Given the description of an element on the screen output the (x, y) to click on. 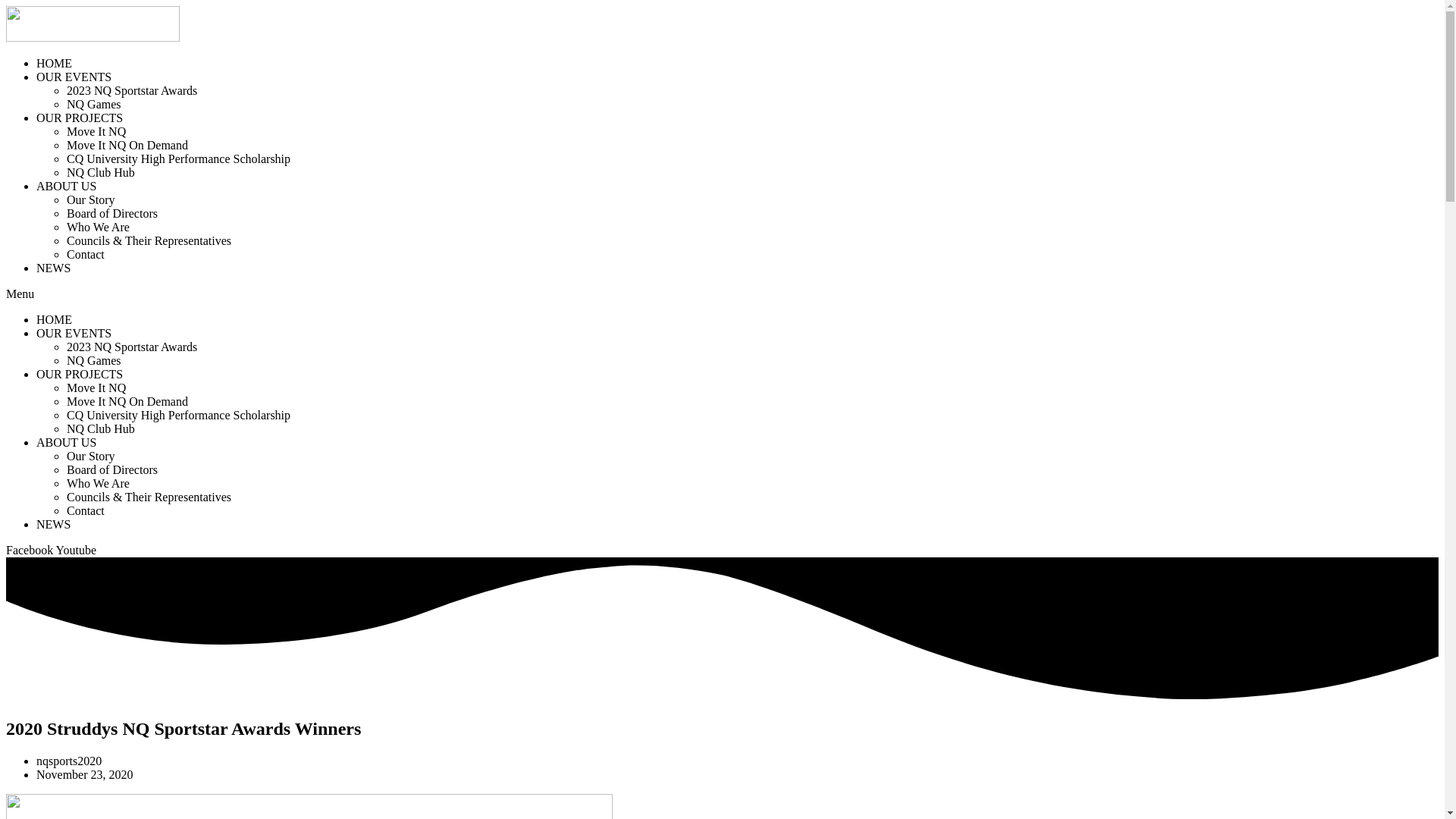
2023 NQ Sportstar Awards Element type: text (131, 90)
nqsports2020 Element type: text (68, 760)
NQ Games Element type: text (93, 360)
ABOUT US Element type: text (66, 185)
Contact Element type: text (85, 253)
HOME Element type: text (54, 319)
Move It NQ Element type: text (95, 131)
Board of Directors Element type: text (111, 213)
Our Story Element type: text (90, 199)
NQ Club Hub Element type: text (100, 172)
CQ University High Performance Scholarship Element type: text (178, 158)
HOME Element type: text (54, 62)
Councils & Their Representatives Element type: text (148, 240)
Contact Element type: text (85, 510)
OUR EVENTS Element type: text (73, 76)
Move It NQ On Demand Element type: text (127, 144)
2023 NQ Sportstar Awards Element type: text (131, 346)
November 23, 2020 Element type: text (84, 774)
Move It NQ On Demand Element type: text (127, 401)
ABOUT US Element type: text (66, 442)
Board of Directors Element type: text (111, 469)
NQ Games Element type: text (93, 103)
NQ Club Hub Element type: text (100, 428)
NEWS Element type: text (53, 523)
OUR EVENTS Element type: text (73, 332)
Our Story Element type: text (90, 455)
OUR PROJECTS Element type: text (79, 117)
Move It NQ Element type: text (95, 387)
Who We Are Element type: text (97, 226)
NEWS Element type: text (53, 267)
Who We Are Element type: text (97, 482)
Councils & Their Representatives Element type: text (148, 496)
CQ University High Performance Scholarship Element type: text (178, 414)
Facebook Element type: text (31, 549)
OUR PROJECTS Element type: text (79, 373)
Youtube Element type: text (76, 549)
